Given the description of an element on the screen output the (x, y) to click on. 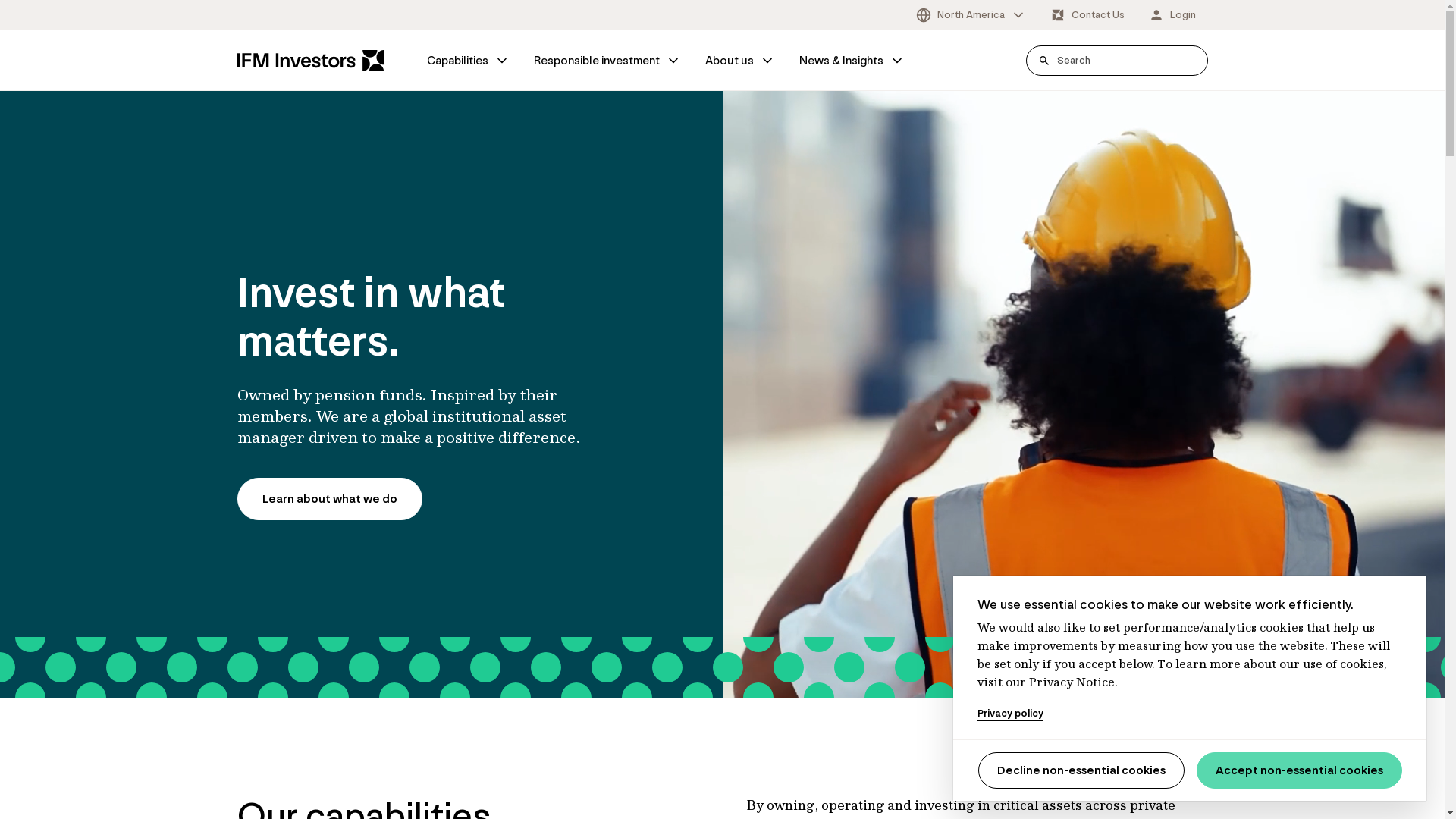
Contact Us Element type: text (1086, 15)
Privacy policy Element type: text (1010, 713)
About us Element type: text (740, 60)
Decline non-essential cookies Element type: text (1081, 770)
Capabilities Element type: text (467, 60)
Login Element type: text (1171, 15)
Accept non-essential cookies Element type: text (1299, 770)
Responsible investment Element type: text (607, 60)
News & Insights Element type: text (851, 60)
Learn about what we do Element type: text (328, 498)
Home Element type: hover (309, 60)
